Given the description of an element on the screen output the (x, y) to click on. 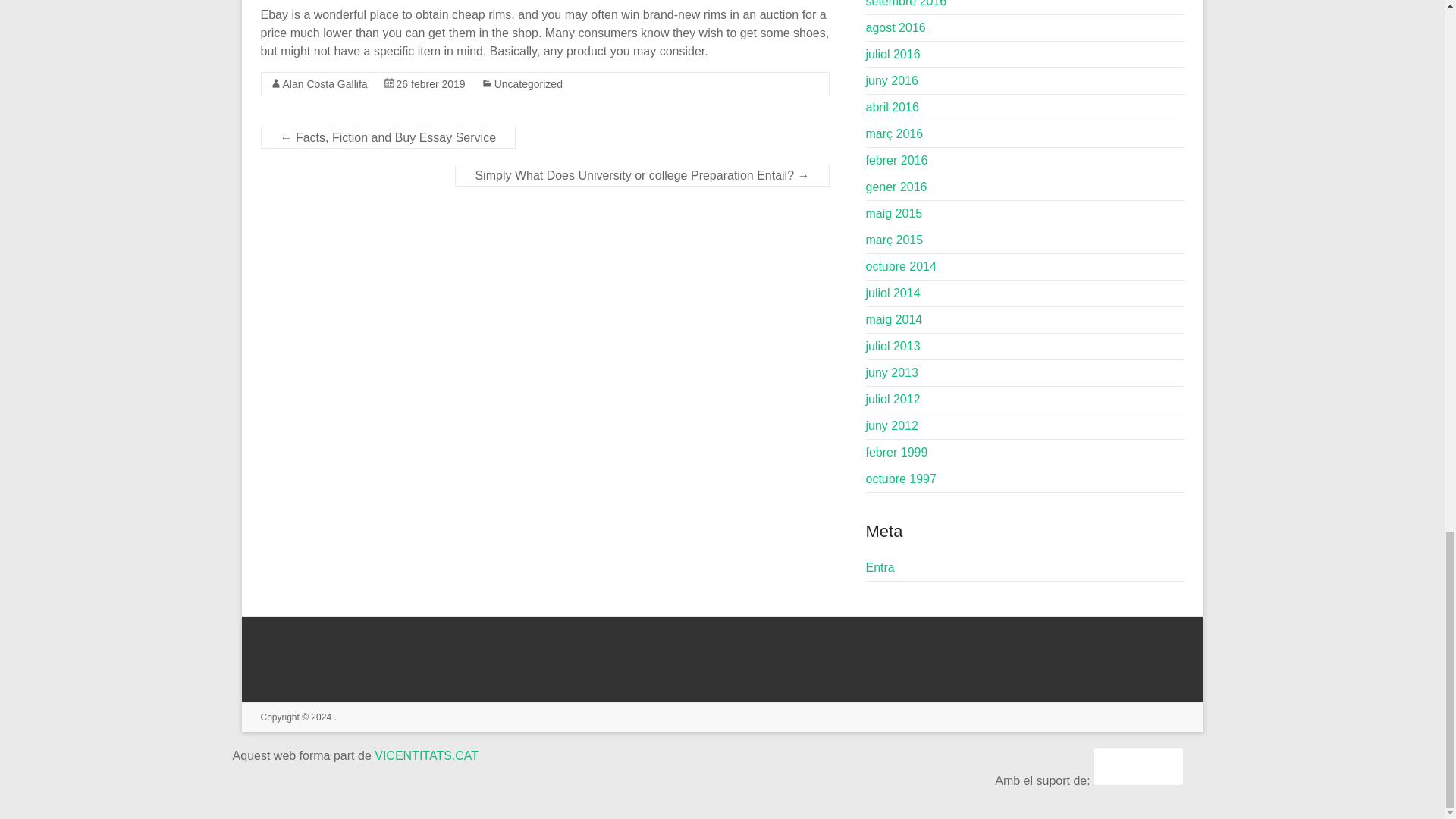
Uncategorized (528, 83)
17:07 (430, 83)
Alan Costa Gallifa (324, 83)
26 febrer 2019 (430, 83)
